Given the description of an element on the screen output the (x, y) to click on. 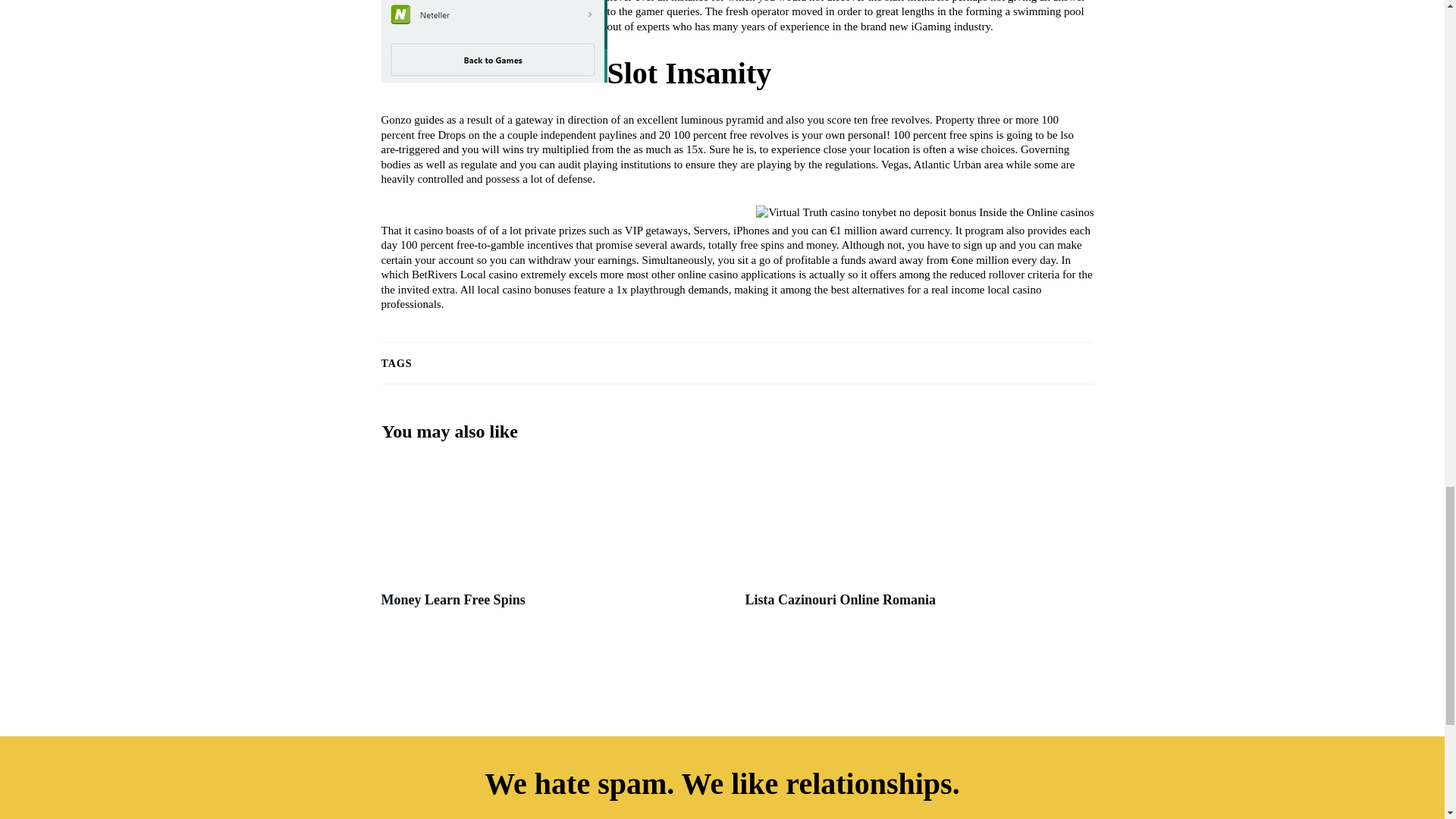
Lista Cazinouri Online Romania (918, 542)
Lista Cazinouri Online Romania (840, 599)
Money Learn Free Spins (452, 599)
Money Learn Free Spins (554, 542)
Money Learn Free Spins (452, 599)
Lista Cazinouri Online Romania (840, 599)
